Given the description of an element on the screen output the (x, y) to click on. 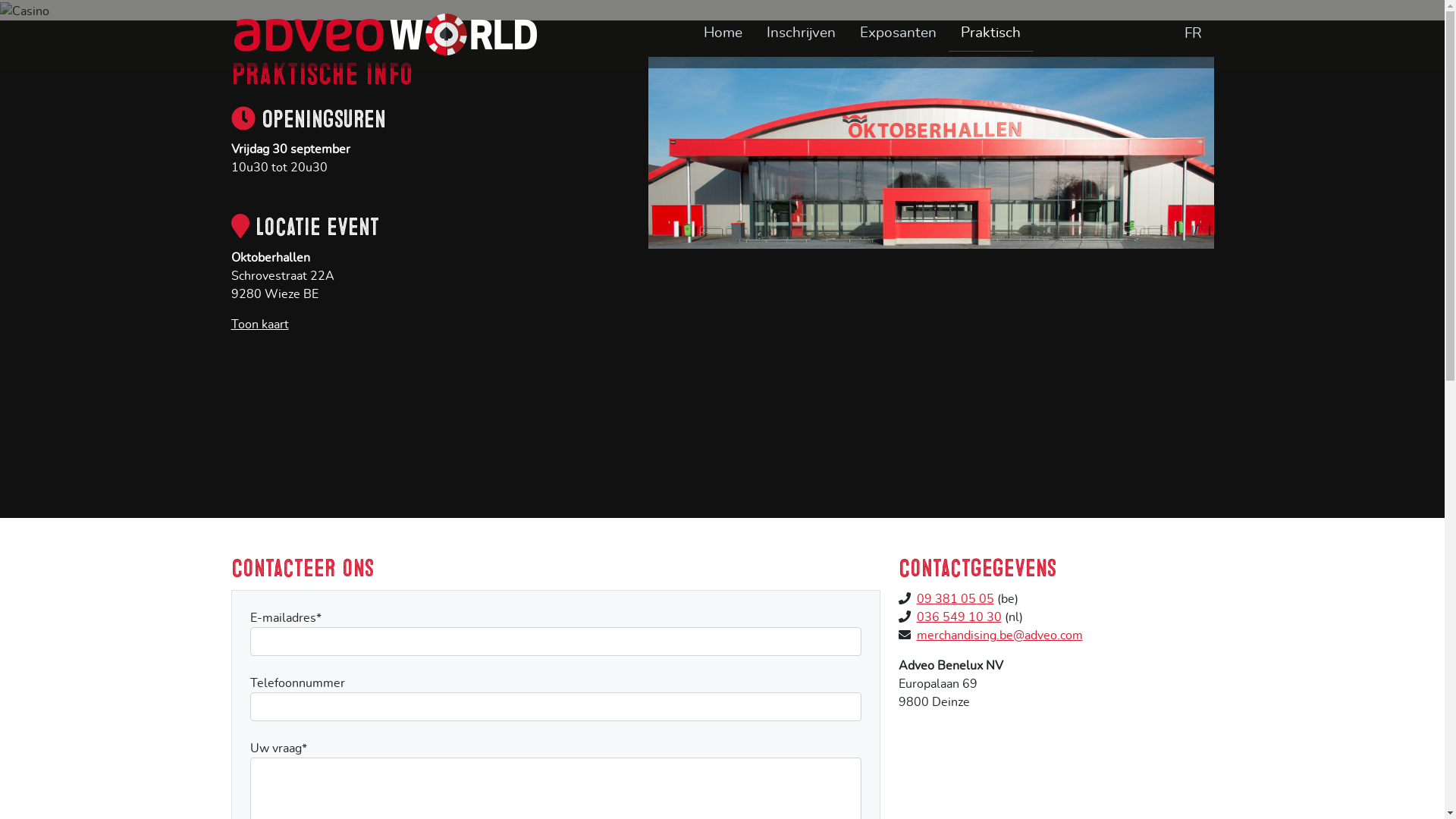
Praktisch Element type: text (990, 33)
Exposanten Element type: text (897, 33)
FR Element type: text (1193, 34)
Toon kaart Element type: text (259, 324)
merchandising.be@adveo.com Element type: text (999, 635)
09 381 05 05 Element type: text (954, 599)
Home Element type: text (722, 33)
Inschrijven Element type: text (800, 33)
036 549 10 30 Element type: text (958, 617)
